Given the description of an element on the screen output the (x, y) to click on. 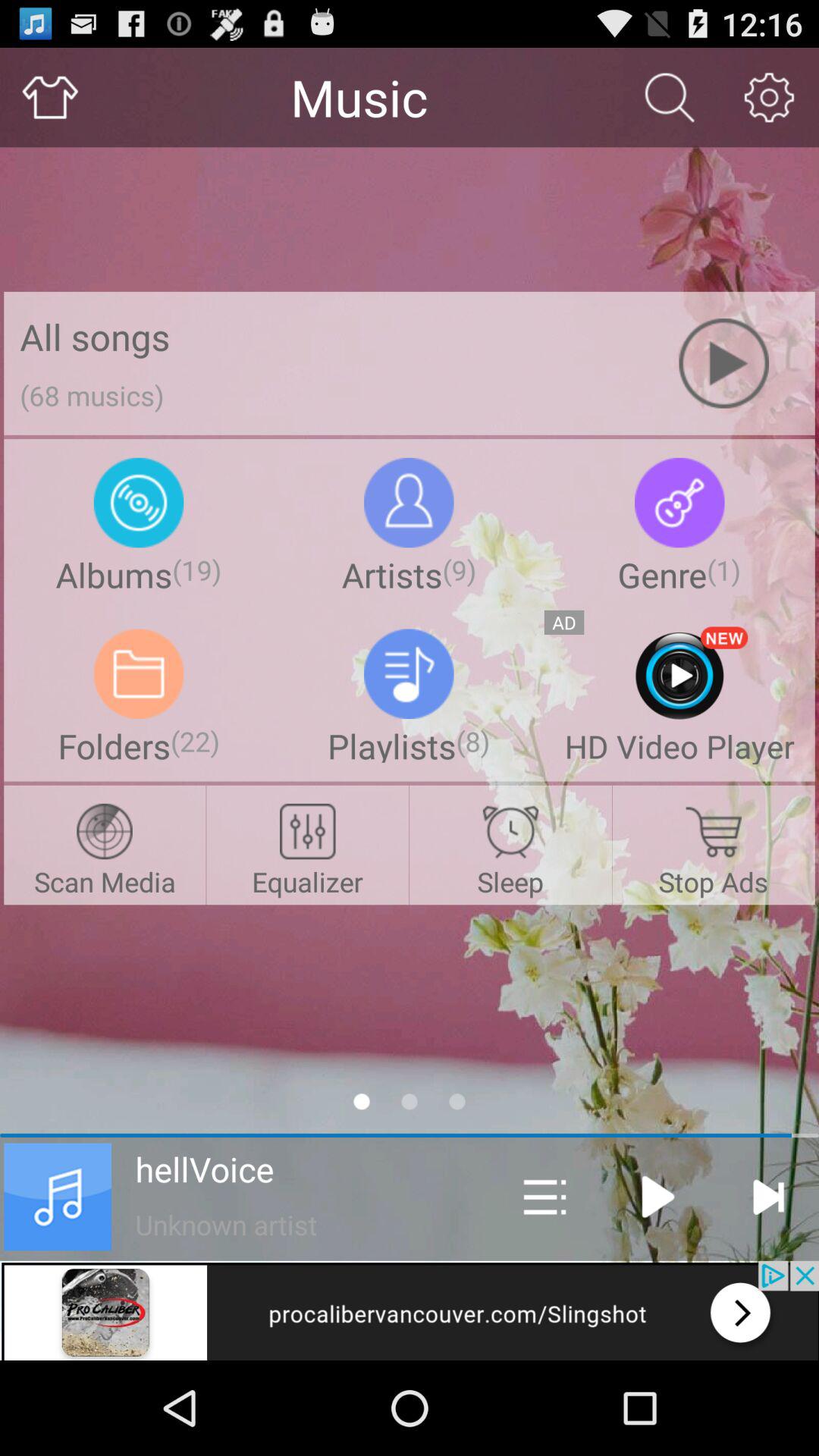
go to top of sleep (510, 831)
click on the icon playlists (408, 673)
click the music symbol which is left to hell voice (57, 1196)
